Given the description of an element on the screen output the (x, y) to click on. 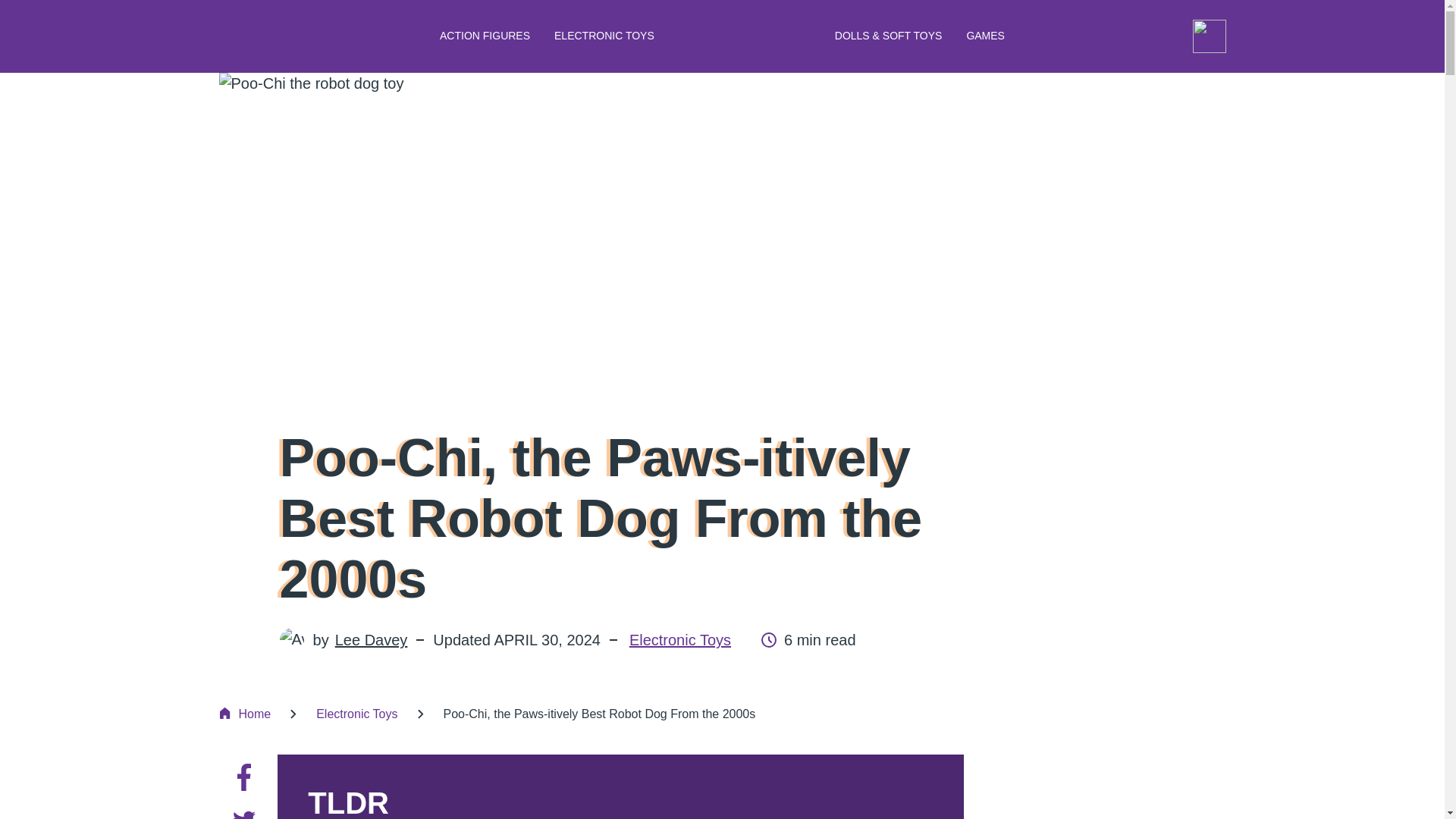
Home (244, 713)
ACTION FIGURES (484, 36)
Electronic Toys (356, 713)
ELECTRONIC TOYS (603, 36)
GAMES (984, 36)
Electronic Toys (679, 639)
Lee Davey (370, 639)
